Given the description of an element on the screen output the (x, y) to click on. 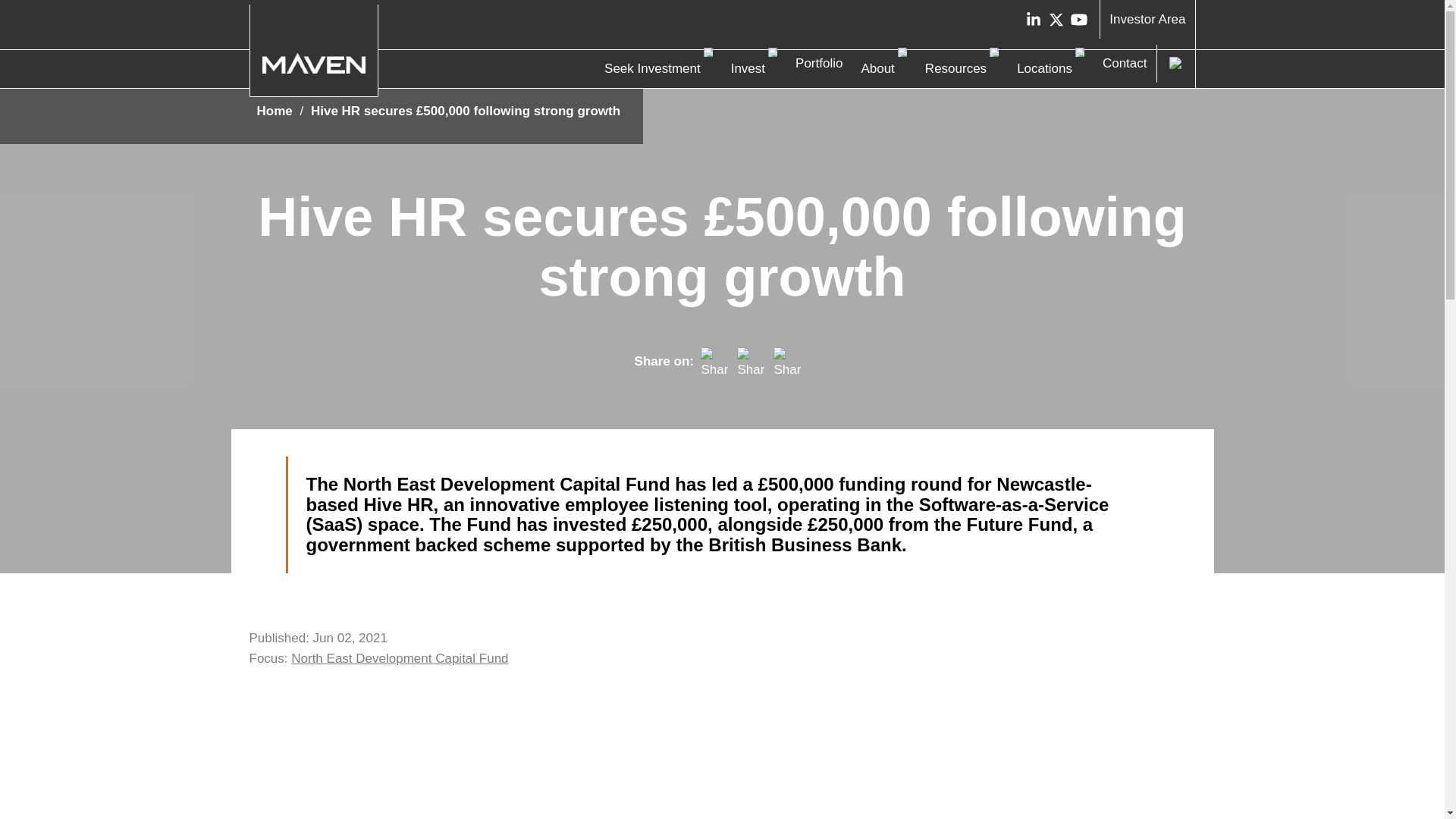
About (876, 68)
Invest (747, 68)
Investor Area (1147, 19)
Portfolio (818, 63)
Seek Investment (652, 68)
